Given the description of an element on the screen output the (x, y) to click on. 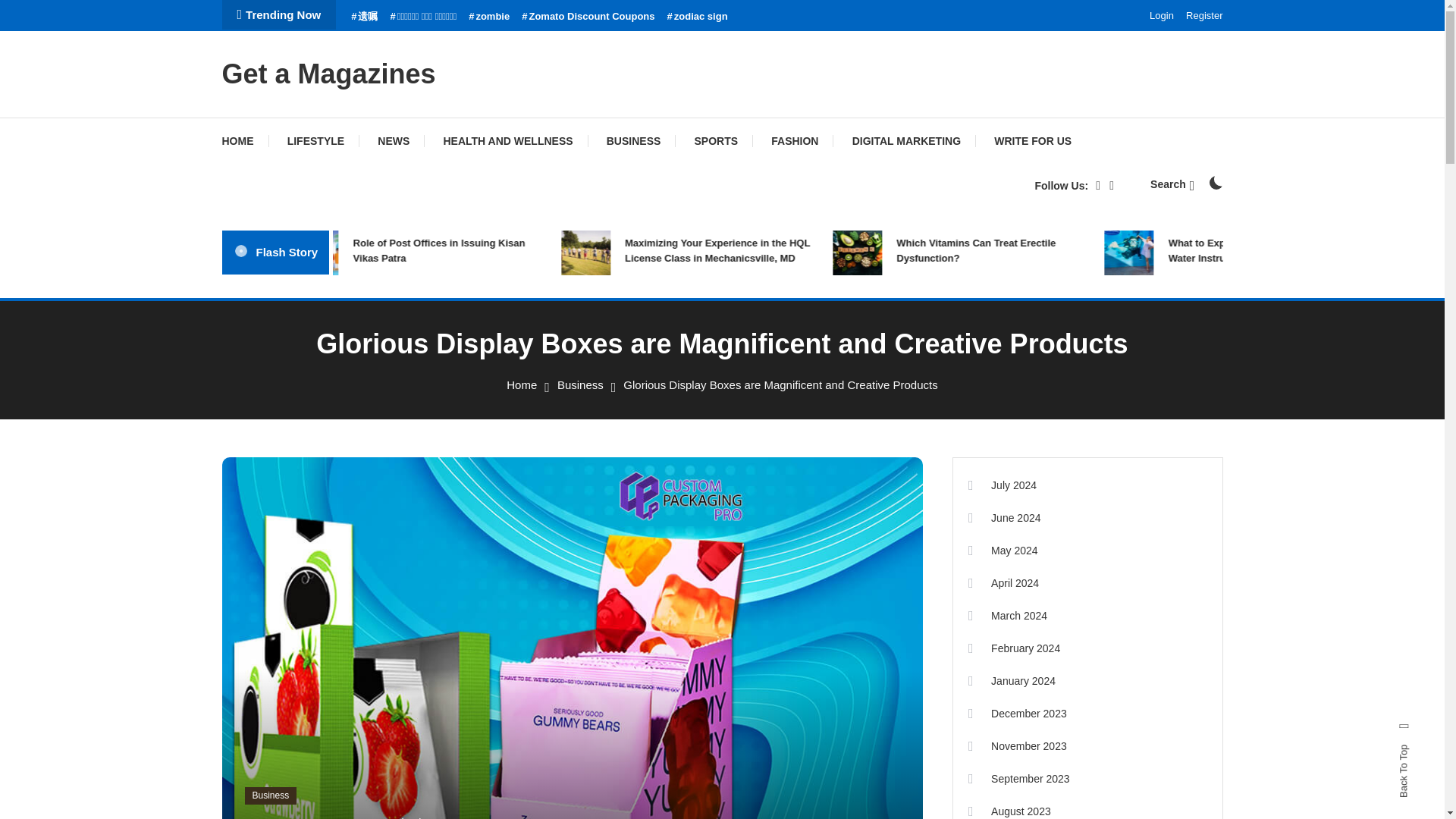
Login (1161, 15)
Get a Magazines (328, 73)
Register (1204, 15)
NEWS (393, 140)
Search (1171, 184)
FASHION (793, 140)
Search (768, 434)
WRITE FOR US (1032, 140)
HEALTH AND WELLNESS (508, 140)
SPORTS (716, 140)
DIGITAL MARKETING (906, 140)
on (1215, 182)
Role of Post Offices in Issuing Kisan Vikas Patra (491, 250)
Which Vitamins Can Treat Erectile Dysfunction? (1034, 250)
